Given the description of an element on the screen output the (x, y) to click on. 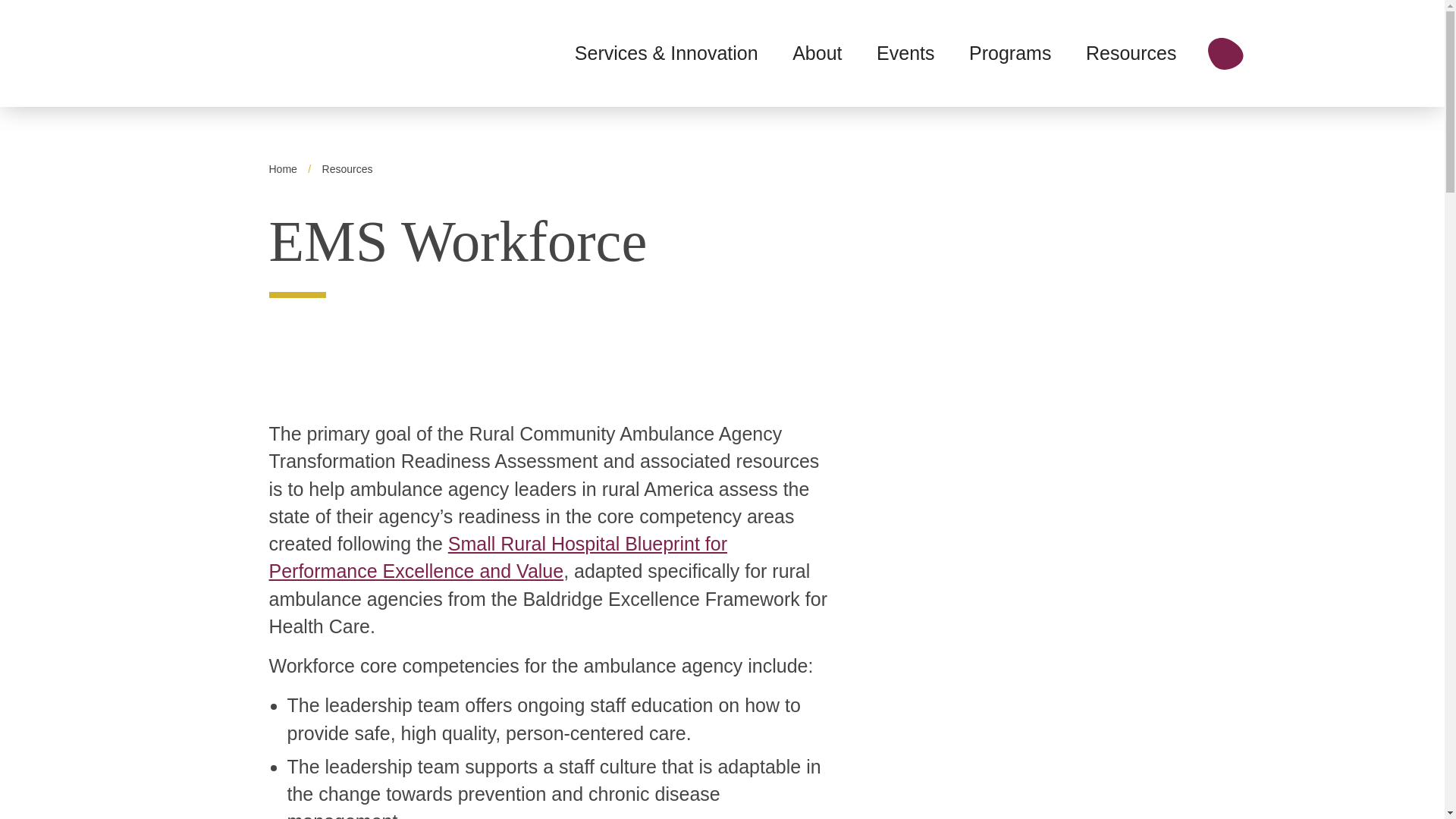
About (816, 52)
Home (282, 168)
Skip to main content (721, 12)
Resources (1131, 52)
Resources (346, 168)
Programs (1010, 52)
Events (905, 52)
Search (1225, 52)
National Rural Health Resource Center (256, 50)
